Given the description of an element on the screen output the (x, y) to click on. 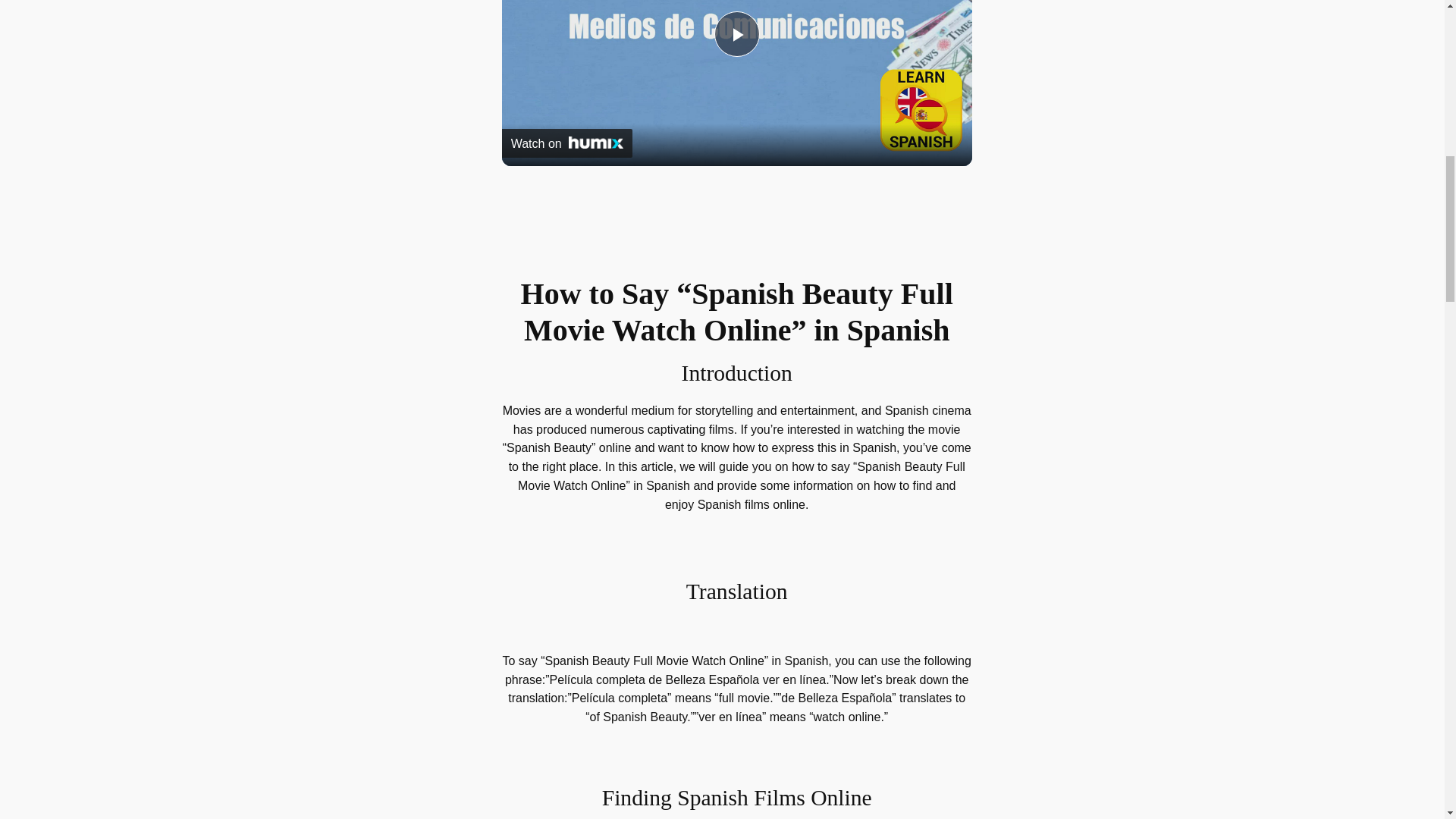
Watch on (566, 143)
Play Video (737, 33)
Play Video (737, 33)
